Given the description of an element on the screen output the (x, y) to click on. 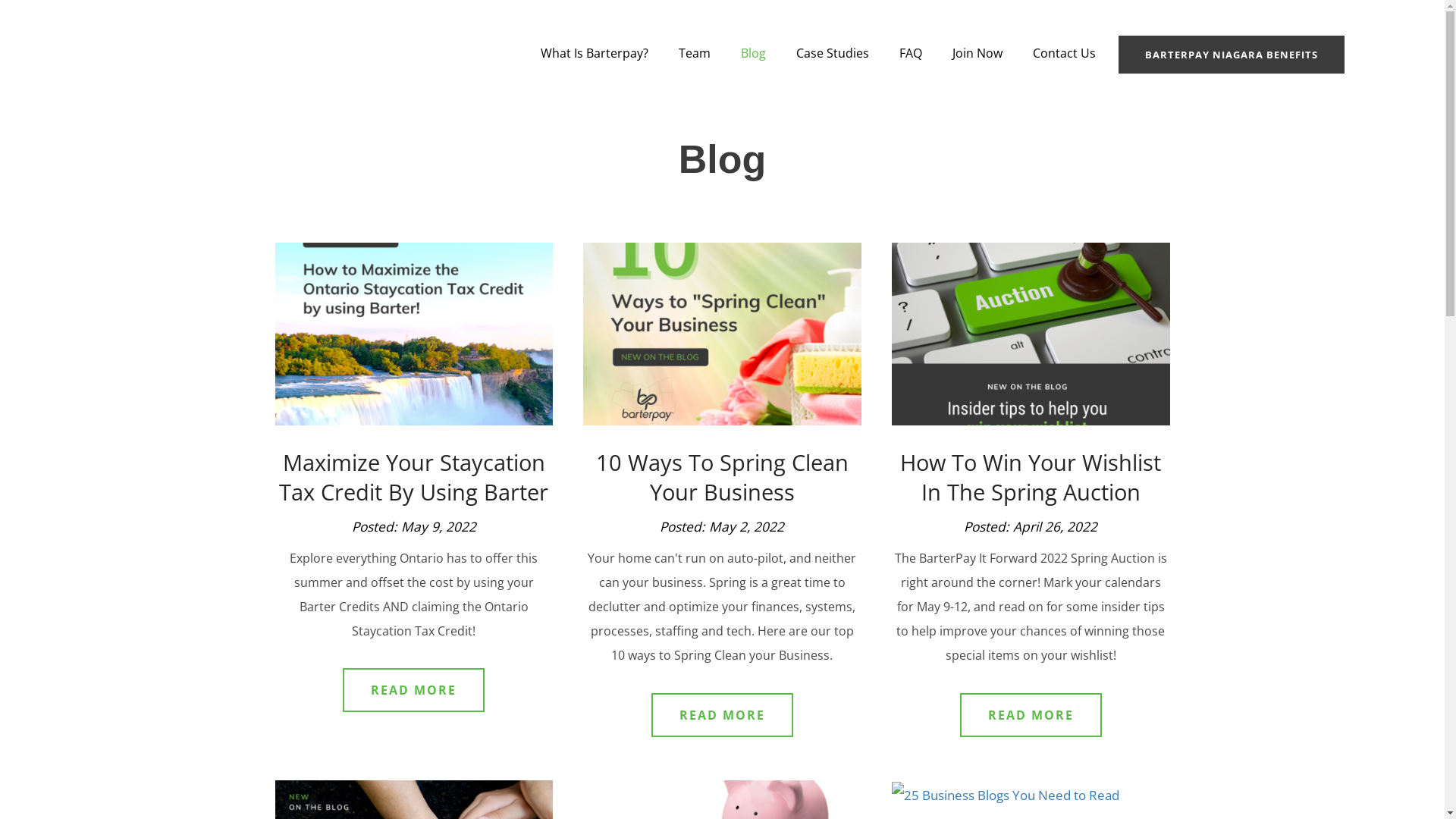
READ MORE Element type: text (1030, 715)
Join Now Element type: text (977, 53)
BARTERPAY NIAGARA BENEFITS Element type: text (1226, 53)
Maximize Your Staycation Tax Credit By Using Barter Element type: text (413, 465)
Case Studies Element type: text (832, 53)
What Is Barterpay? Element type: text (593, 53)
READ MORE Element type: text (722, 715)
Contact Us Element type: text (1063, 53)
How To Win Your Wishlist In The Spring Auction Element type: text (1030, 465)
Blog Element type: text (752, 53)
10 Ways To Spring Clean Your Business Element type: text (722, 465)
FAQ Element type: text (910, 53)
READ MORE Element type: text (413, 690)
Team Element type: text (693, 53)
